Given the description of an element on the screen output the (x, y) to click on. 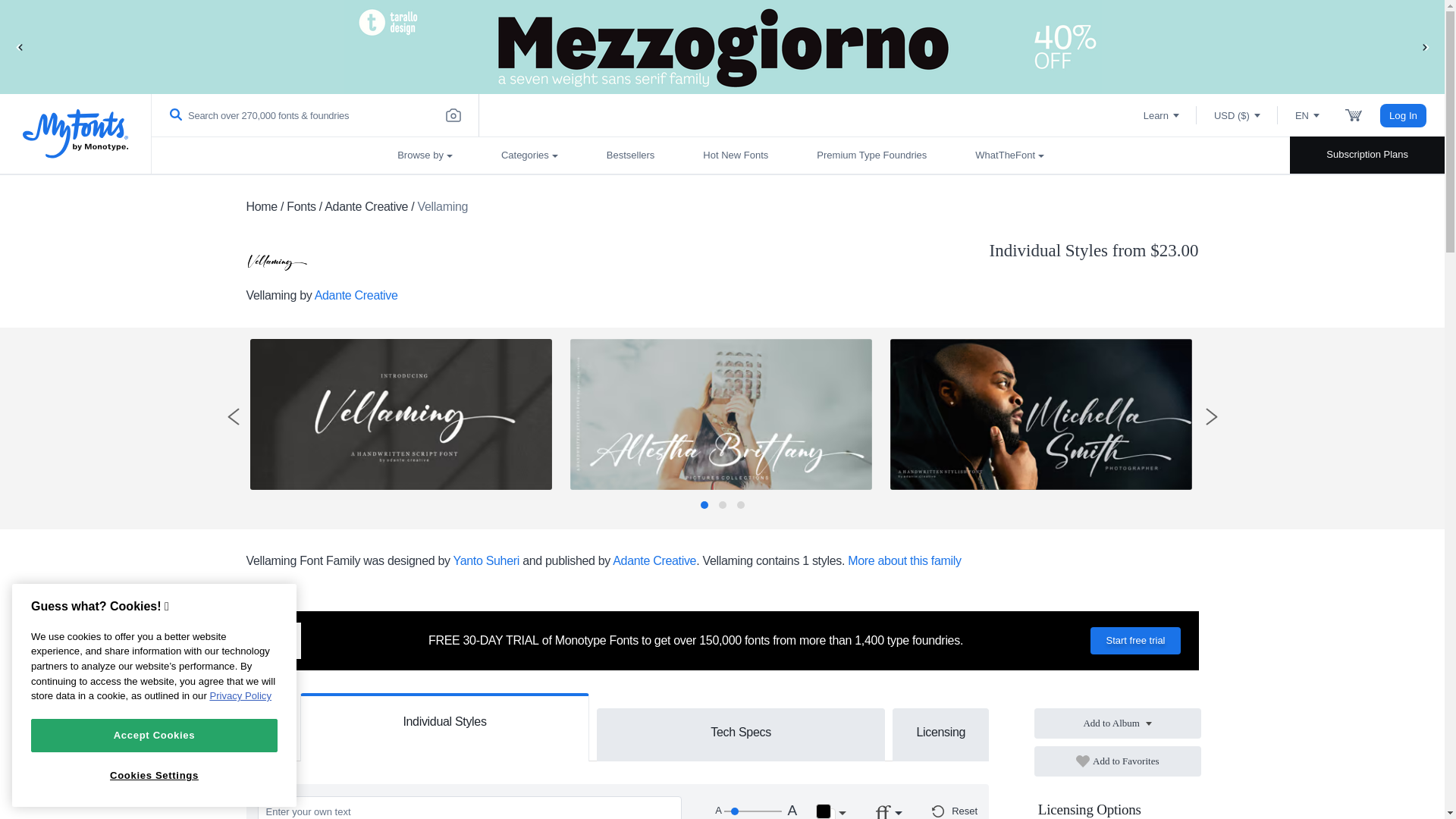
Tech Specs (740, 731)
Glyphs (269, 735)
Individual Styles (444, 719)
Log In (1403, 114)
Licensing (940, 731)
Skip to content (72, 27)
MyFonts (75, 133)
